Given the description of an element on the screen output the (x, y) to click on. 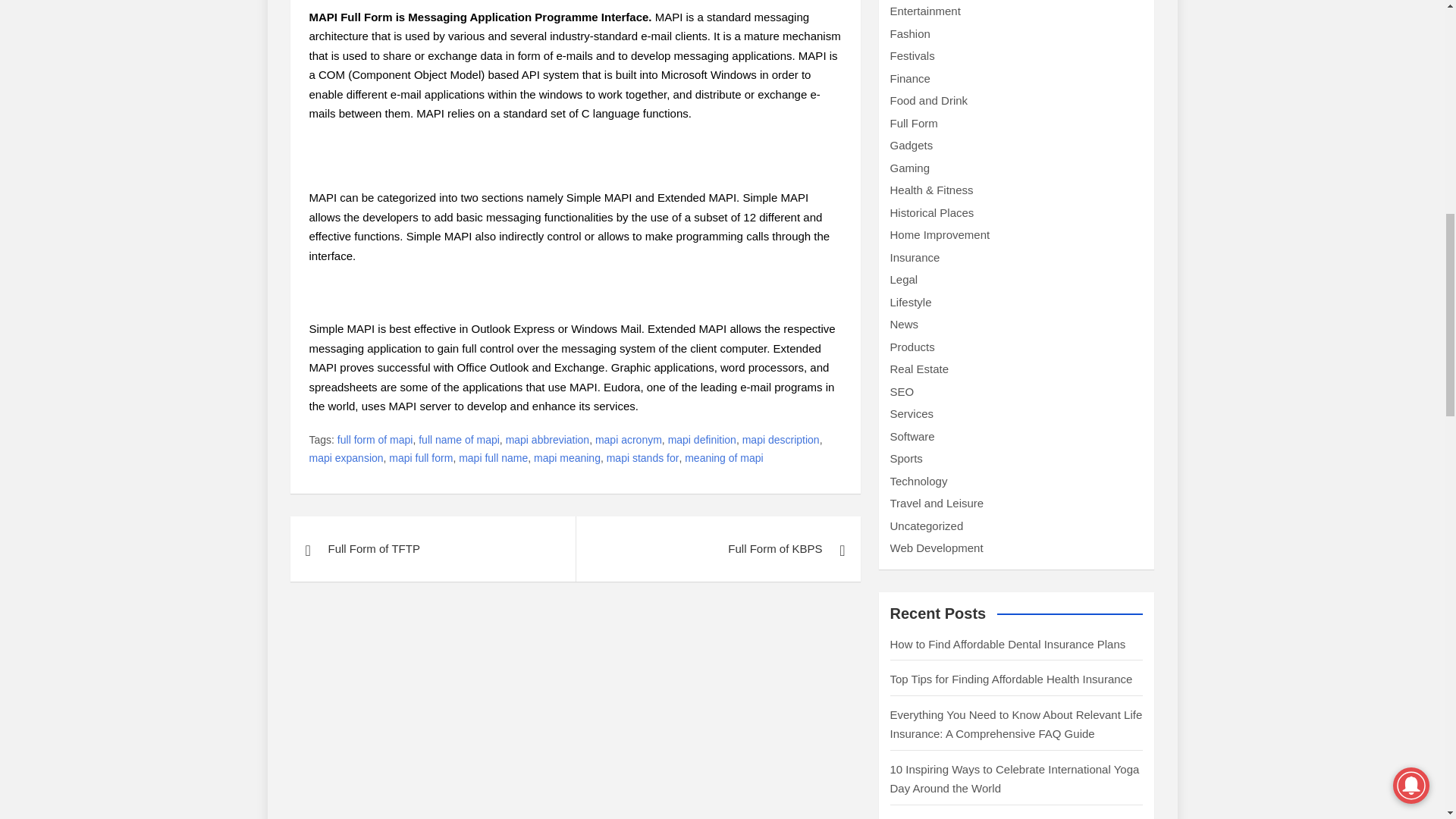
full name of mapi (459, 440)
mapi abbreviation (547, 440)
mapi full name (492, 458)
mapi meaning (566, 458)
mapi acronym (628, 440)
mapi description (780, 440)
mapi definition (702, 440)
mapi full form (420, 458)
mapi expansion (346, 458)
full form of mapi (375, 440)
